Given the description of an element on the screen output the (x, y) to click on. 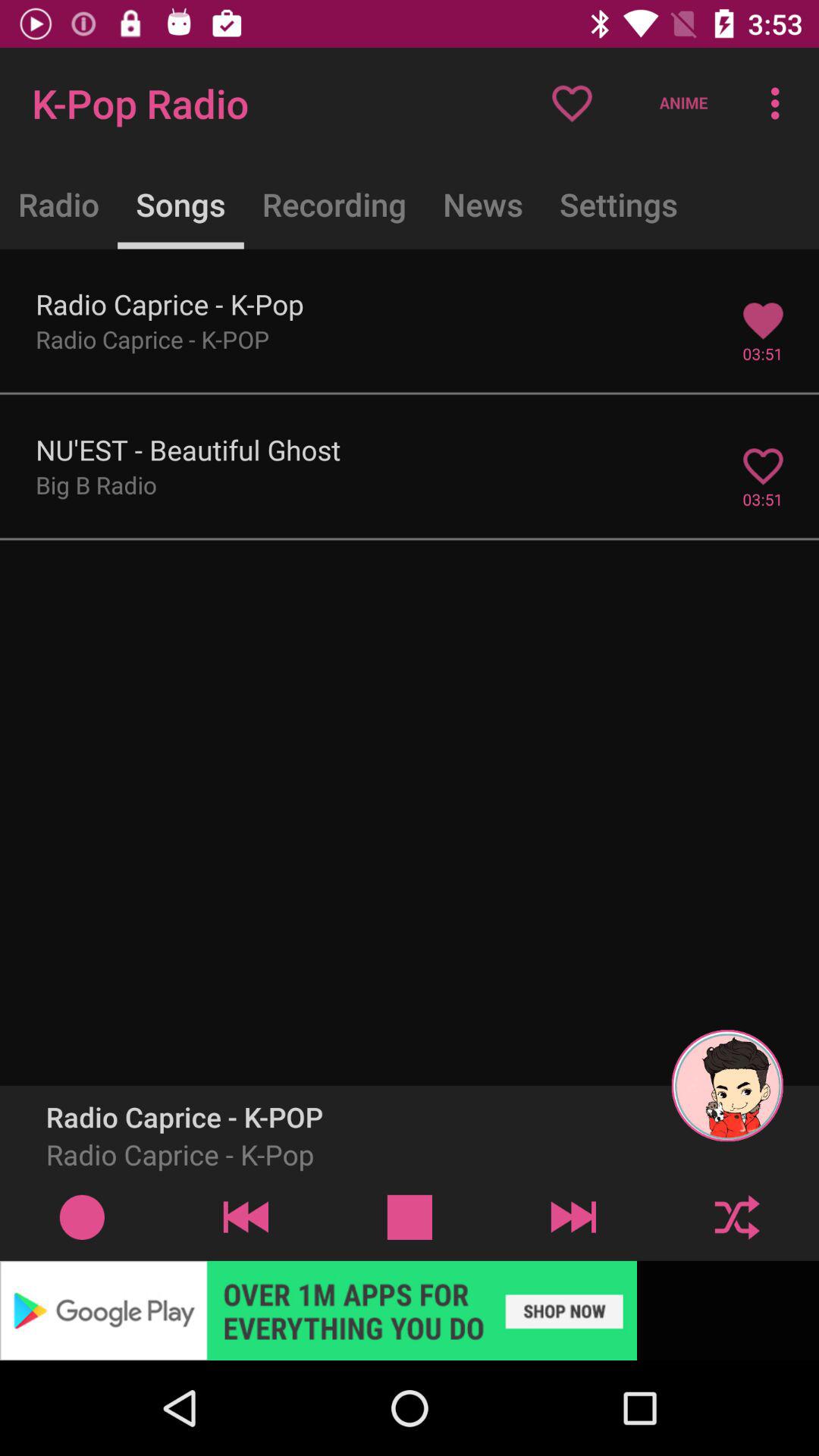
pause option (409, 1216)
